Given the description of an element on the screen output the (x, y) to click on. 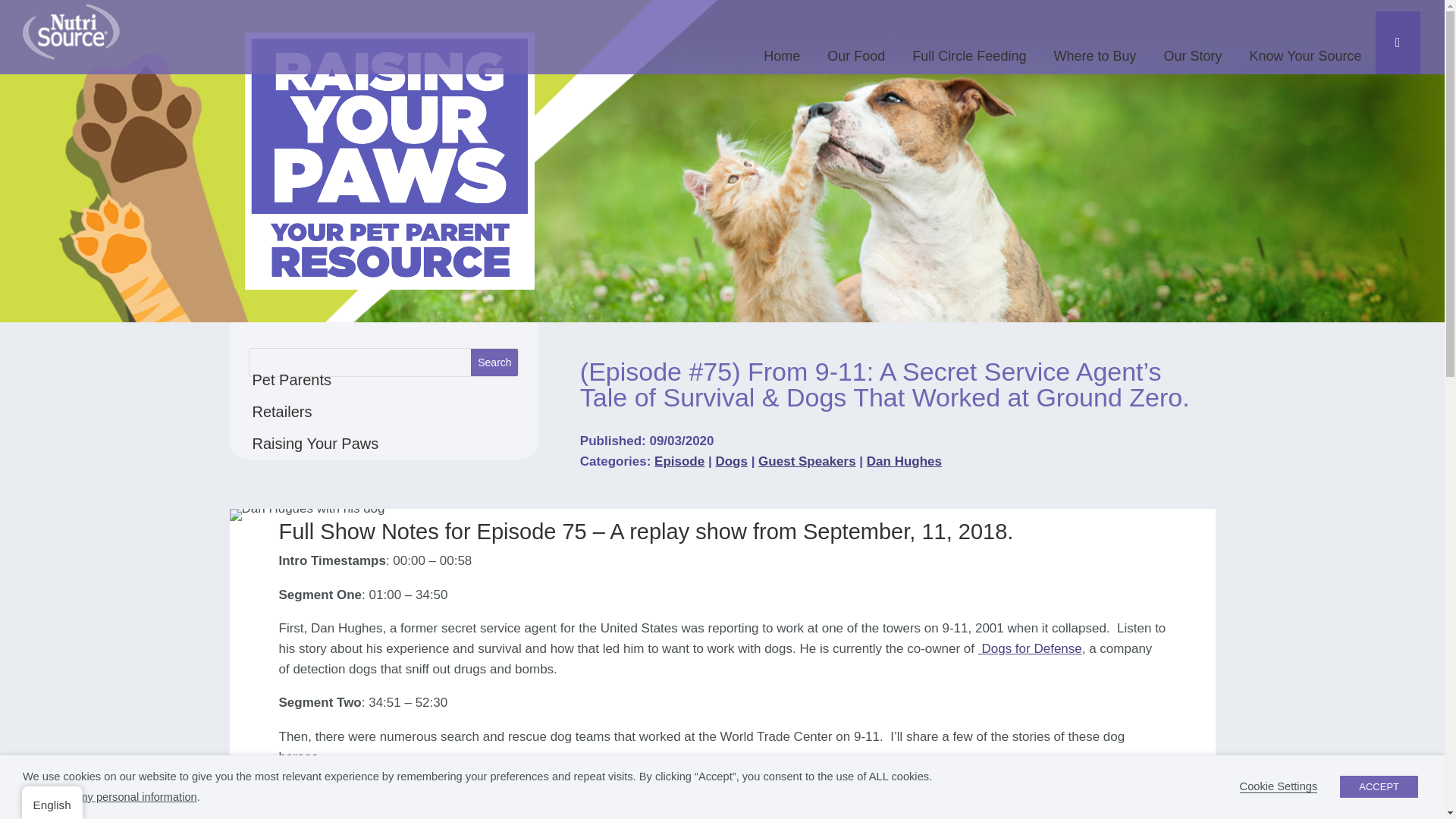
Primary Uber Menu (1397, 42)
Full Circle Feeding (968, 48)
Know Your Source (1305, 48)
Our Food (855, 48)
Our Story (1192, 48)
Home (314, 411)
Where to Buy (781, 48)
Search (1094, 48)
Search (494, 361)
